Given the description of an element on the screen output the (x, y) to click on. 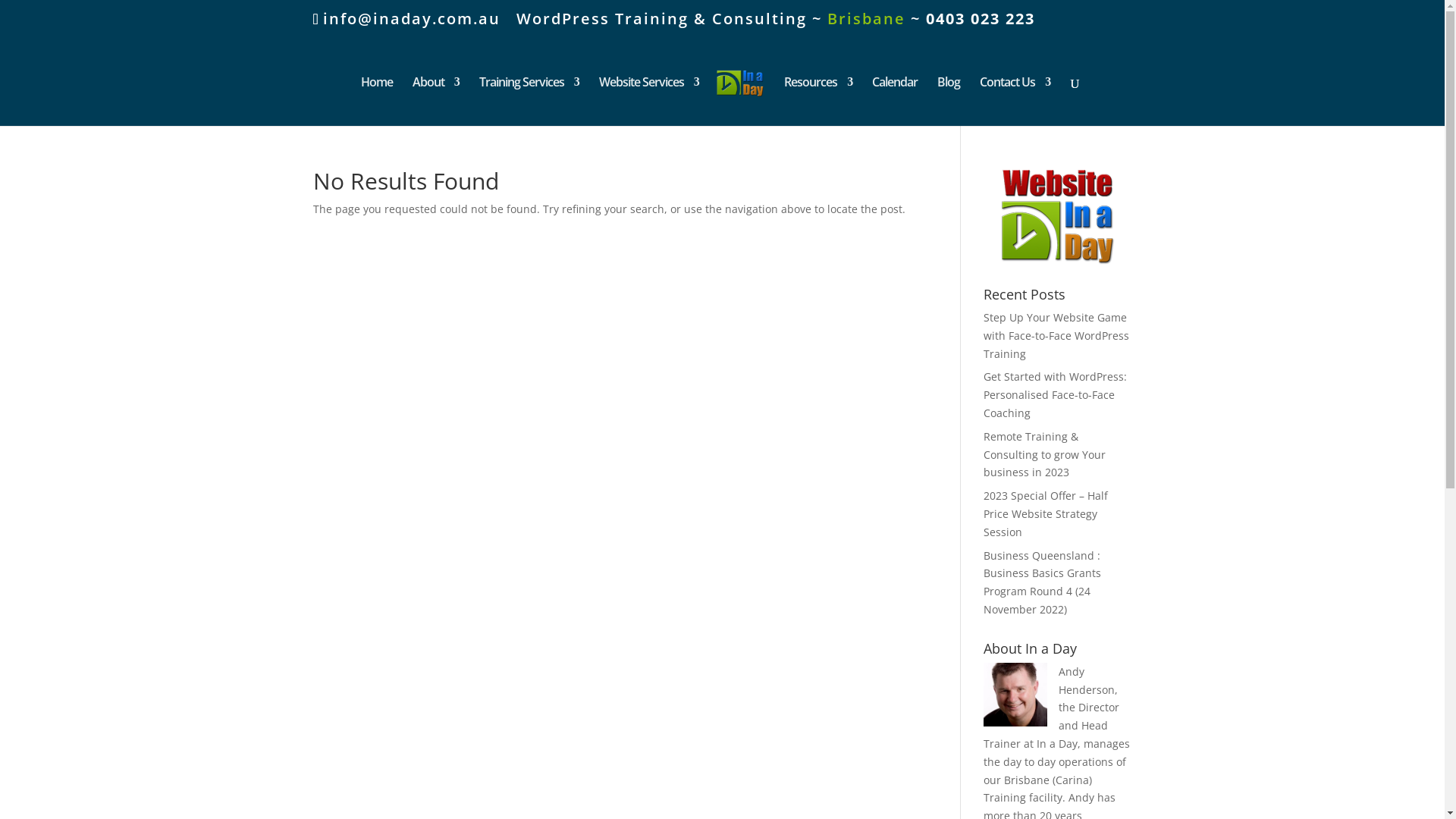
Contact Us Element type: text (1014, 100)
Home Element type: text (376, 100)
About Element type: text (435, 100)
0403 023 223 Element type: text (980, 18)
Blog Element type: text (948, 100)
Resources Element type: text (818, 100)
Website Services Element type: text (649, 100)
Training Services Element type: text (529, 100)
info@inaday.com.au Element type: text (405, 18)
Remote Training & Consulting to grow Your business in 2023 Element type: text (1044, 454)
Calendar Element type: text (894, 100)
